Given the description of an element on the screen output the (x, y) to click on. 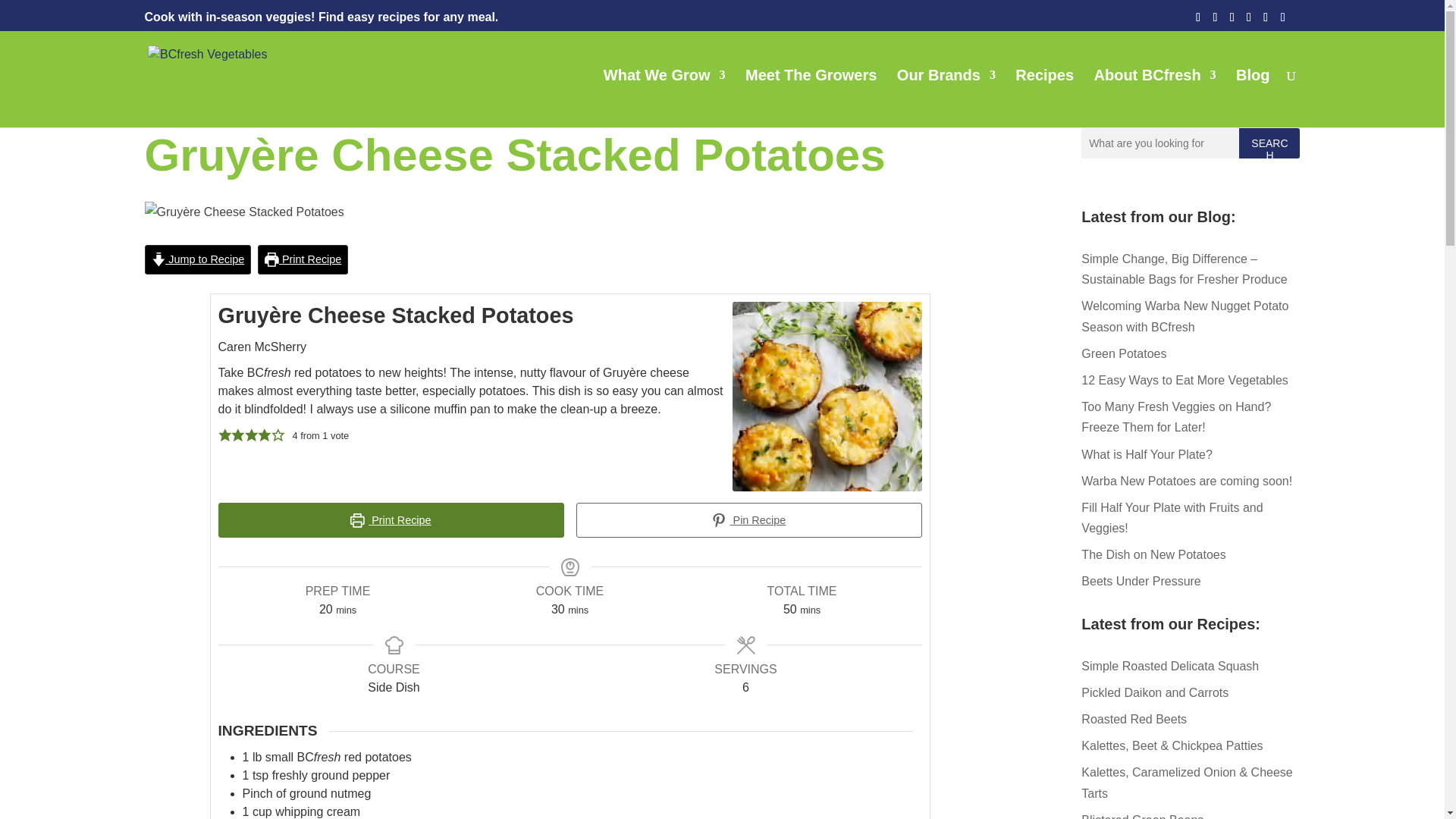
Our Brands (945, 98)
Cook with in-season veggies! Find easy recipes for any meal. (320, 17)
What We Grow (664, 98)
Meet The Growers (810, 98)
